Given the description of an element on the screen output the (x, y) to click on. 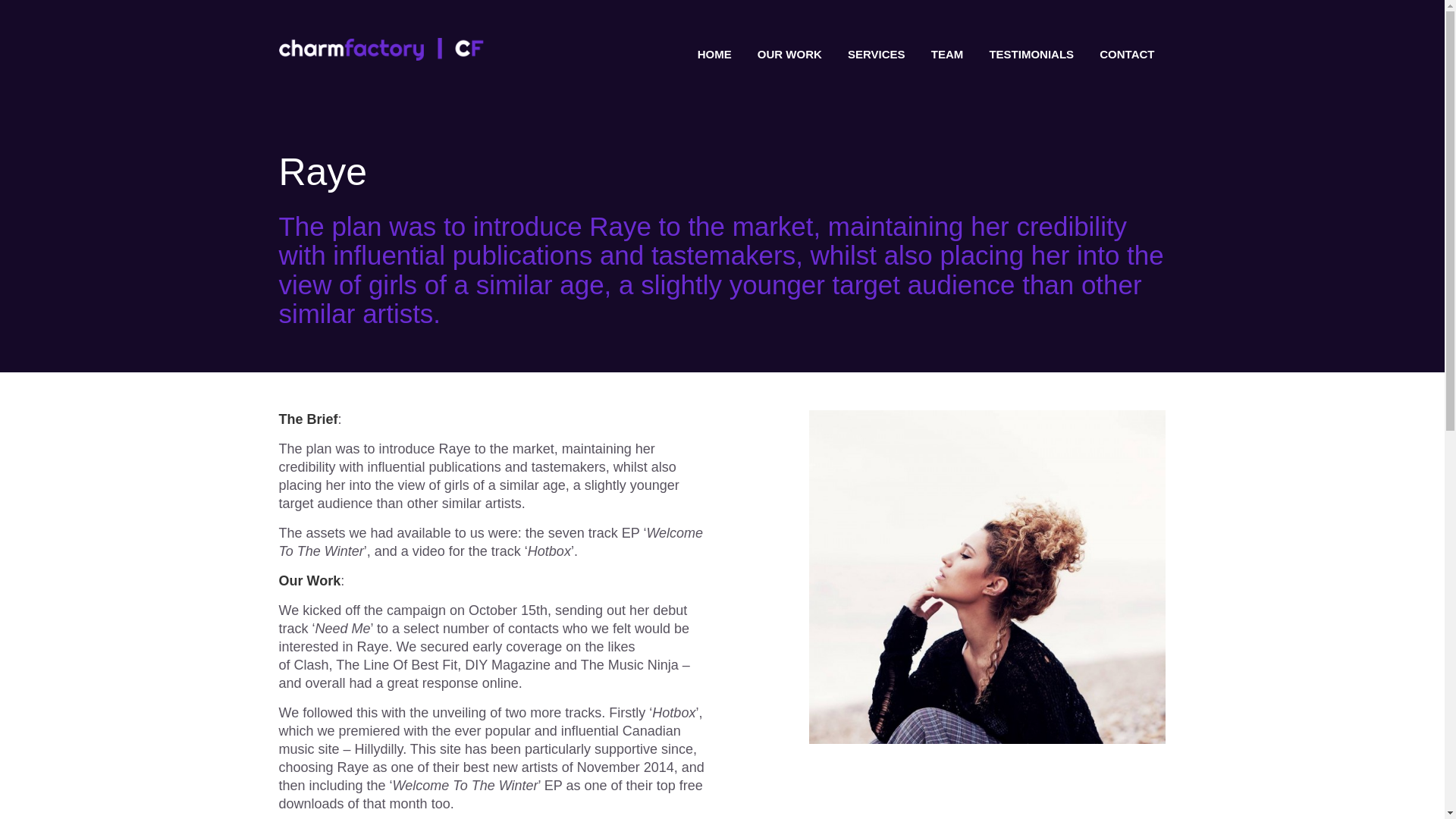
OUR WORK (789, 54)
Charmfactory (381, 47)
Terms and Conditions (1135, 654)
SERVICES (876, 54)
HOME (714, 54)
TEAM (947, 54)
Privacy Policy (1135, 654)
TESTIMONIALS (1031, 54)
CONTACT (1126, 54)
